Given the description of an element on the screen output the (x, y) to click on. 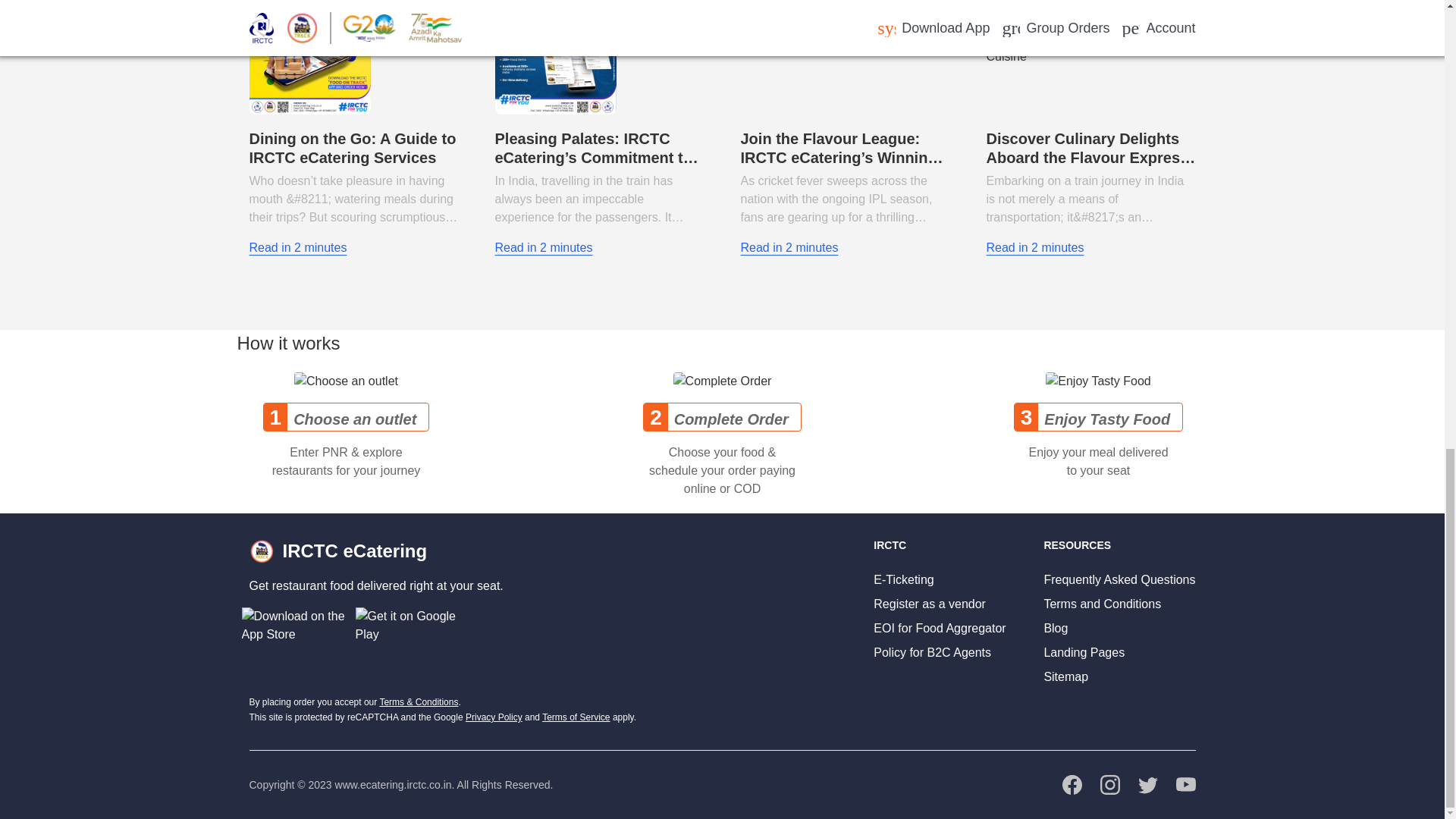
www.ecatering.irctc.co.in (392, 784)
Read in 2 minutes (297, 248)
Sitemap (1065, 676)
Terms and Conditions (1101, 603)
Read in 2 minutes (1034, 248)
Blog (1055, 627)
E-Ticketing (903, 579)
EOI for Food Aggregator (939, 627)
Youtube account (1184, 783)
Privacy Policy (493, 716)
